Given the description of an element on the screen output the (x, y) to click on. 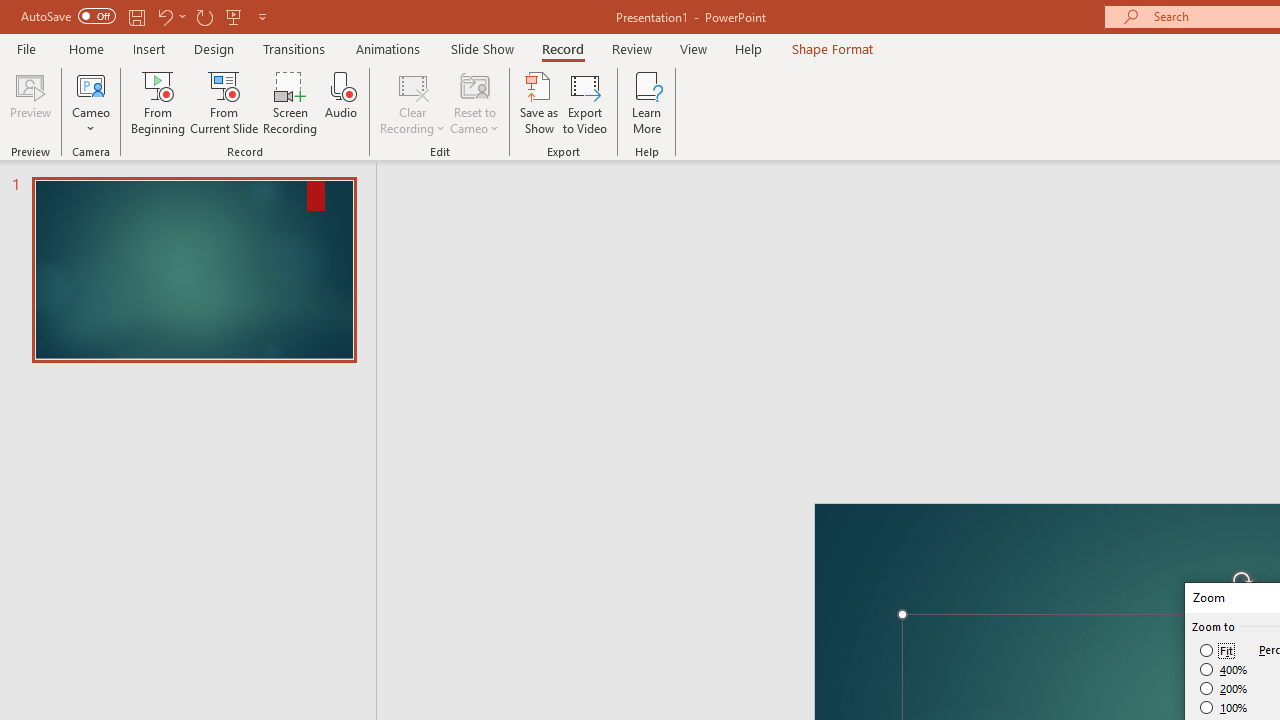
Learn More (646, 102)
Reset to Cameo (474, 102)
Save as Show (539, 102)
Shape Format (832, 48)
Clear Recording (412, 102)
Export to Video (585, 102)
